Given the description of an element on the screen output the (x, y) to click on. 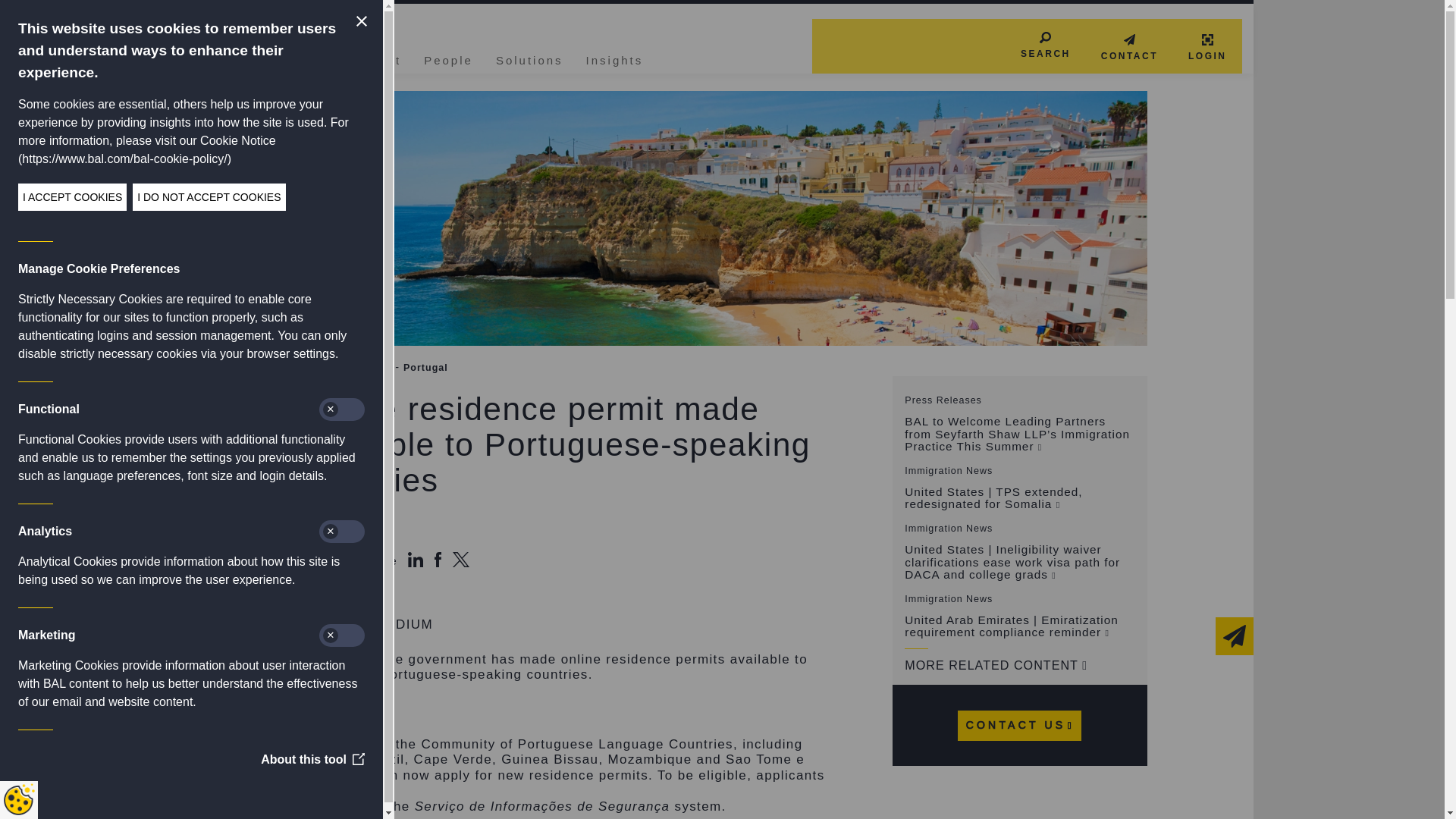
People (448, 58)
Solutions (529, 58)
About (380, 58)
Insights (614, 58)
I DO NOT ACCEPT COOKIES (43, 196)
